Given the description of an element on the screen output the (x, y) to click on. 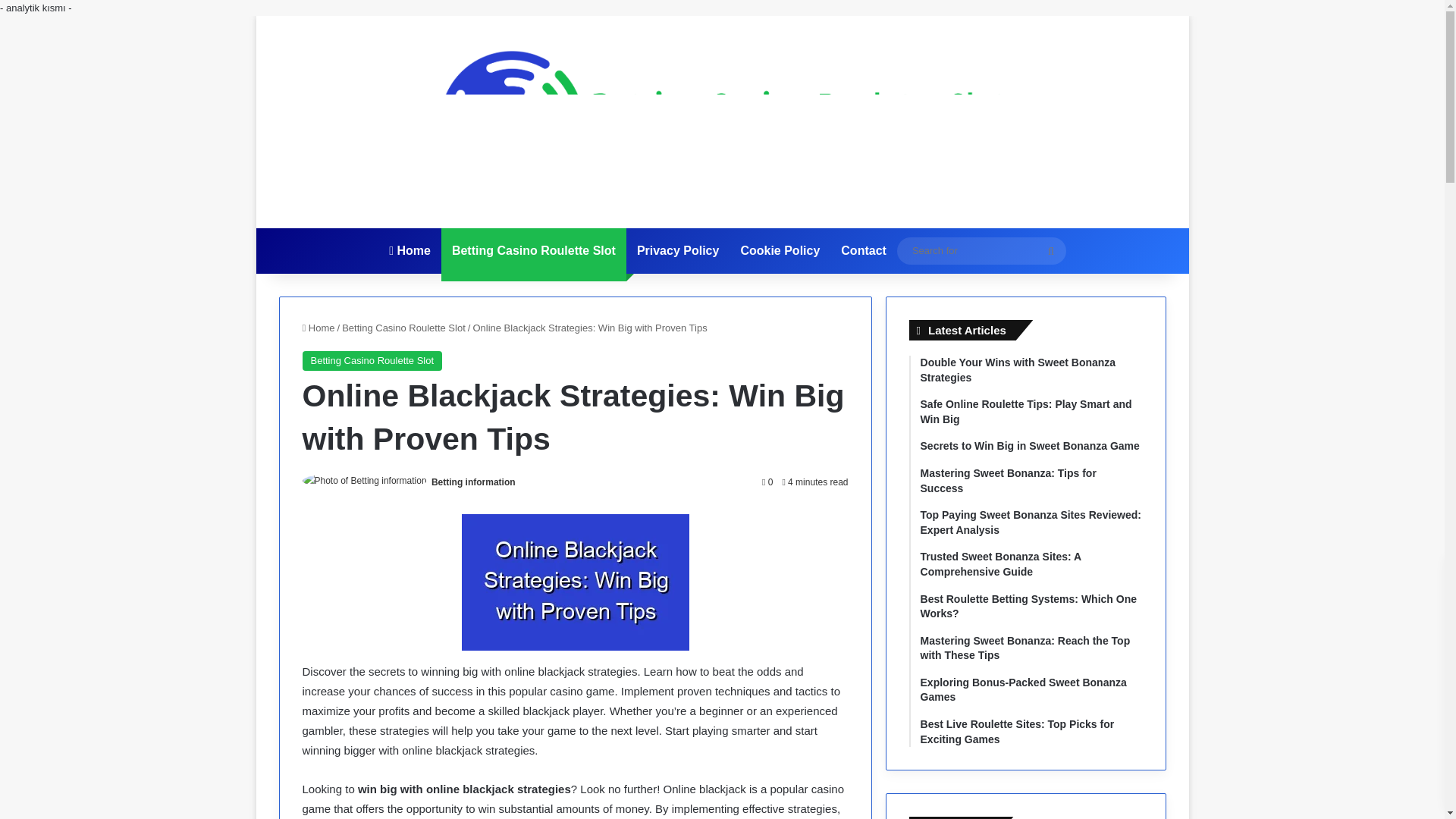
Betting Casino Roulette Slot (403, 327)
Privacy Policy (678, 250)
Cookie Policy (779, 250)
Betting information (472, 481)
Betting information (472, 481)
Home (317, 327)
Online Blackjack Strategies: Win Big with Proven Tips (574, 582)
Contact (862, 250)
Search for (1050, 250)
